Given the description of an element on the screen output the (x, y) to click on. 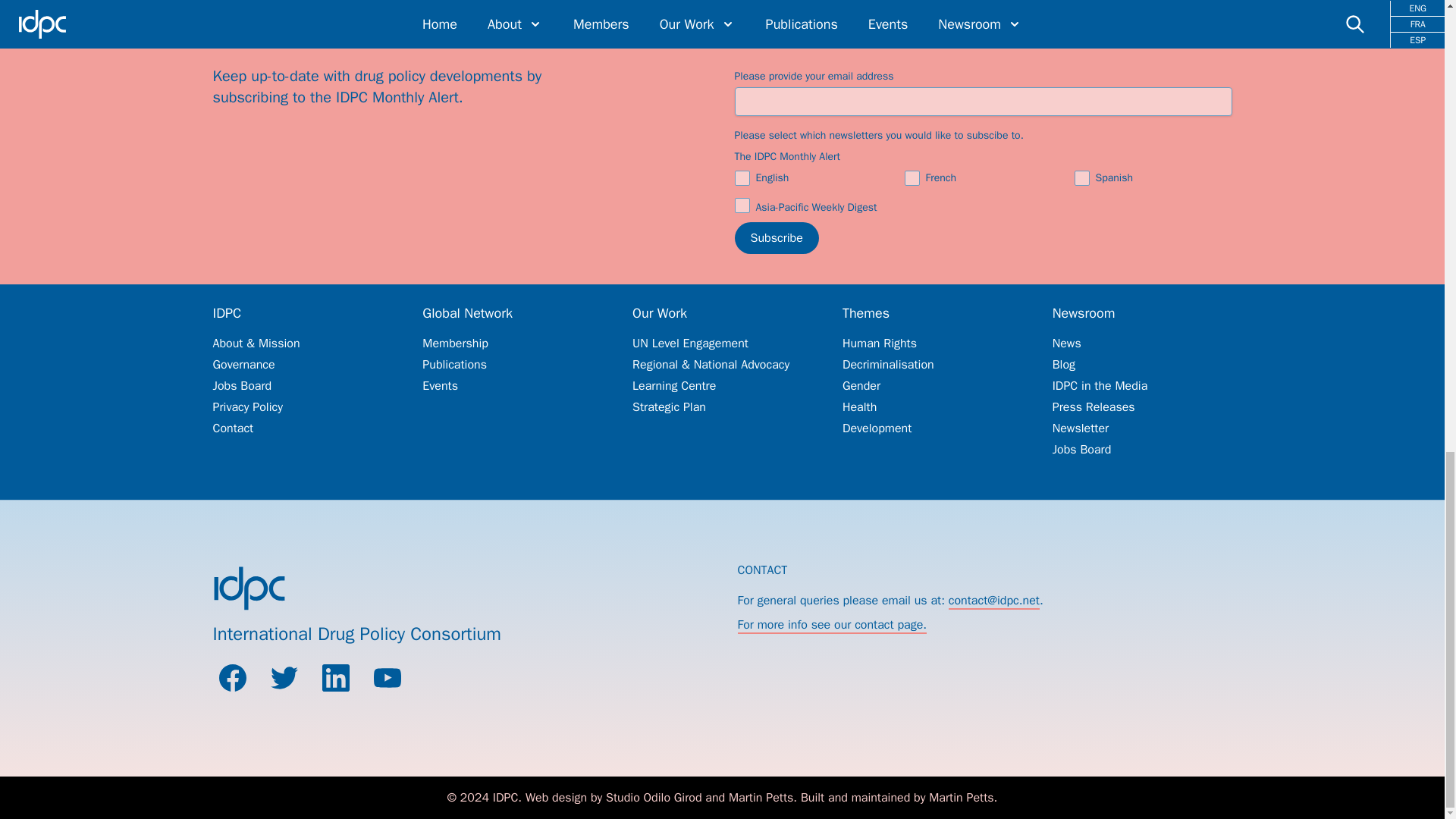
Jobs Board (301, 385)
Health (932, 406)
Privacy Policy (301, 406)
Decriminalisation (932, 364)
Governance (301, 364)
Strategic Plan (721, 406)
Subscribe (775, 237)
on (1081, 177)
Contact (301, 427)
Events (512, 385)
on (911, 177)
Learning Centre (721, 385)
on (741, 177)
Gender (932, 385)
Human Rights (932, 343)
